Given the description of an element on the screen output the (x, y) to click on. 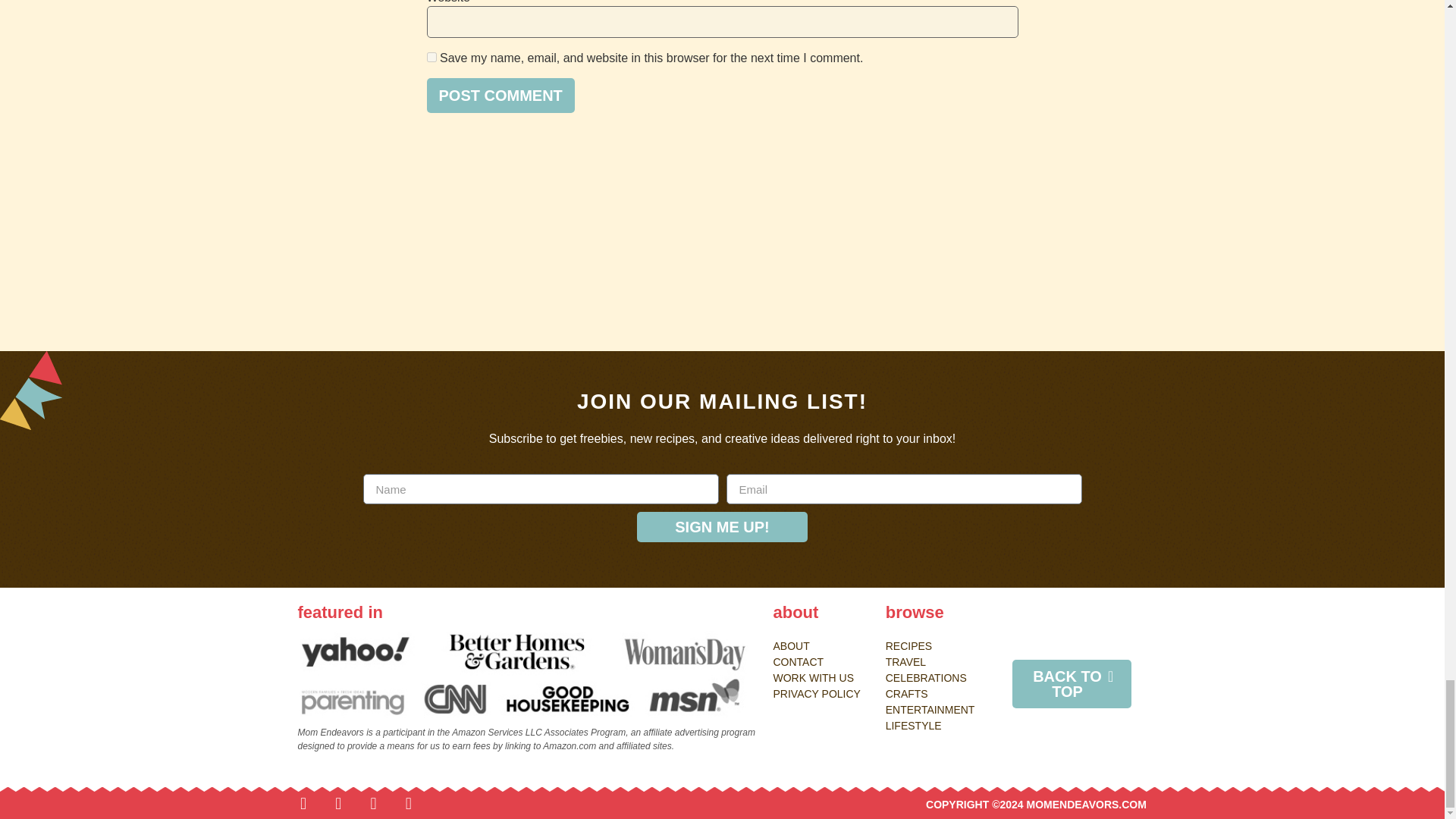
yes (430, 57)
Post Comment (499, 95)
